Given the description of an element on the screen output the (x, y) to click on. 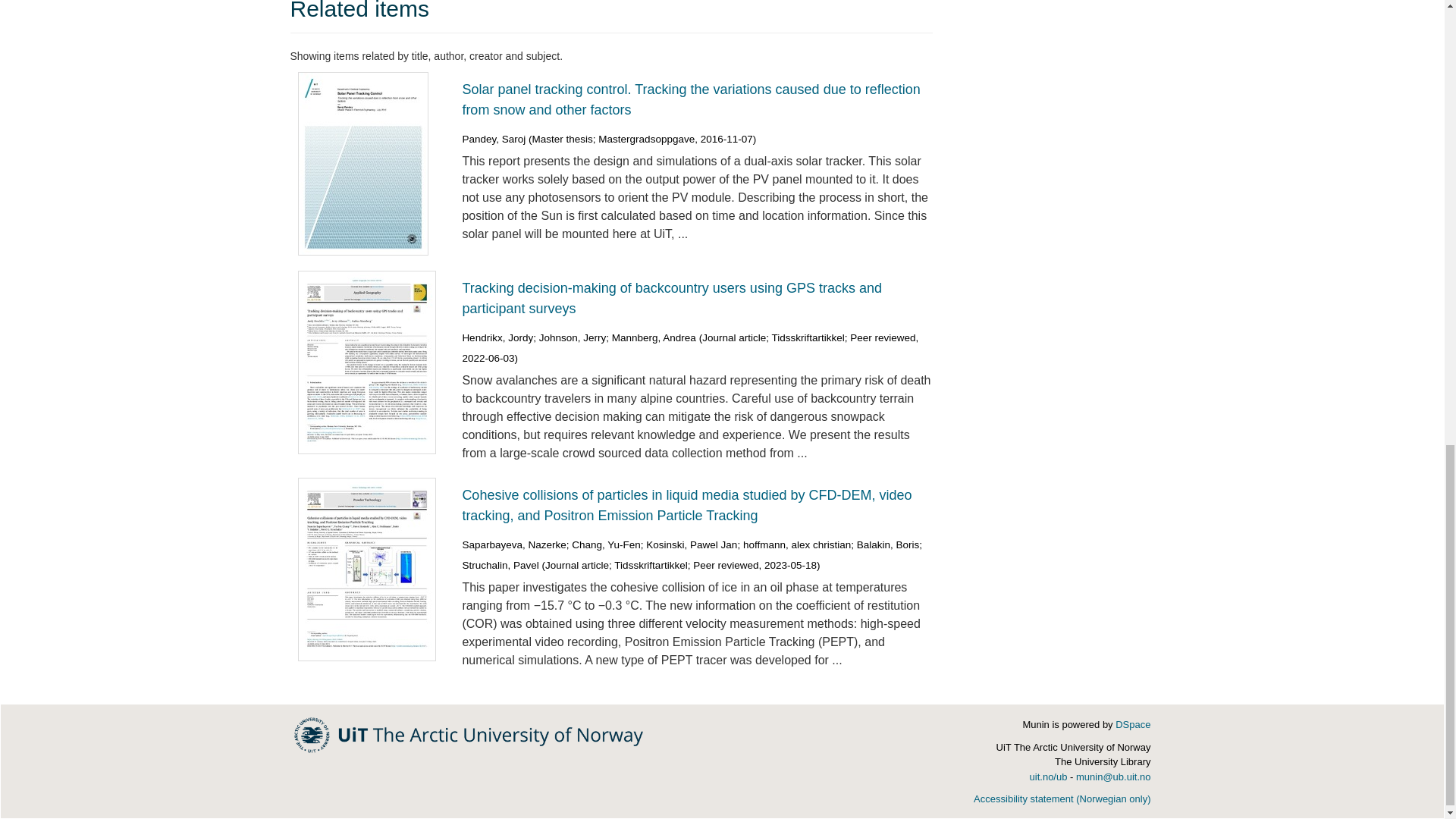
UiT (468, 734)
